Given the description of an element on the screen output the (x, y) to click on. 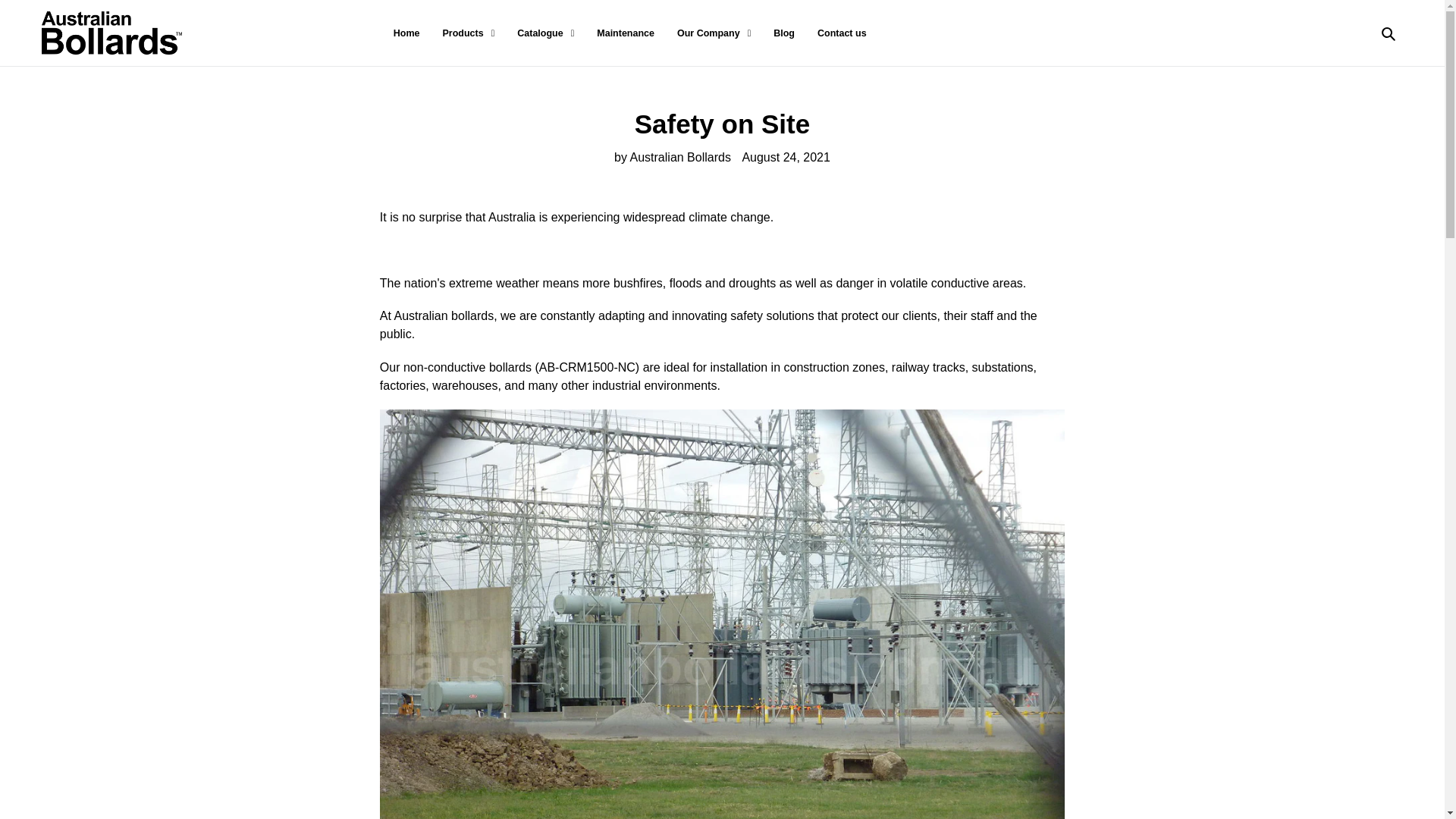
Home (405, 32)
Products (467, 32)
Home (405, 32)
Products (467, 32)
